Given the description of an element on the screen output the (x, y) to click on. 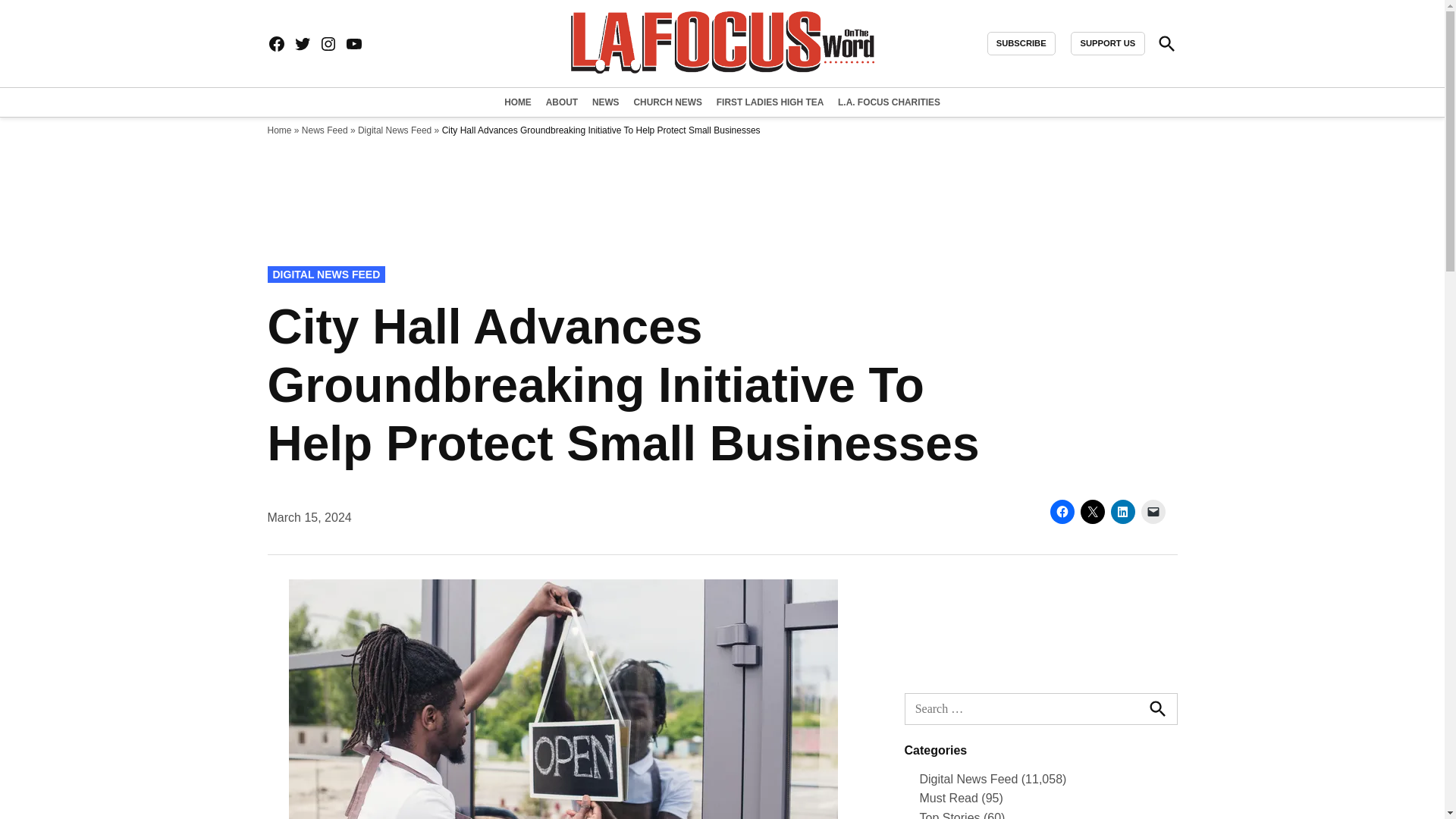
Click to email a link to a friend (1152, 511)
HOME (519, 102)
DIGITAL NEWS FEED (325, 274)
Open Search (1166, 43)
Instagram (327, 44)
Facebook Page (275, 44)
SUPPORT US (1107, 43)
ABOUT (560, 102)
FIRST LADIES HIGH TEA (770, 102)
L.A. FOCUS CHARITIES (887, 102)
CHURCH NEWS (667, 102)
L.A. Focus Newspaper (1025, 54)
News Feed (324, 129)
NEWS (605, 102)
Digital News Feed (394, 129)
